Given the description of an element on the screen output the (x, y) to click on. 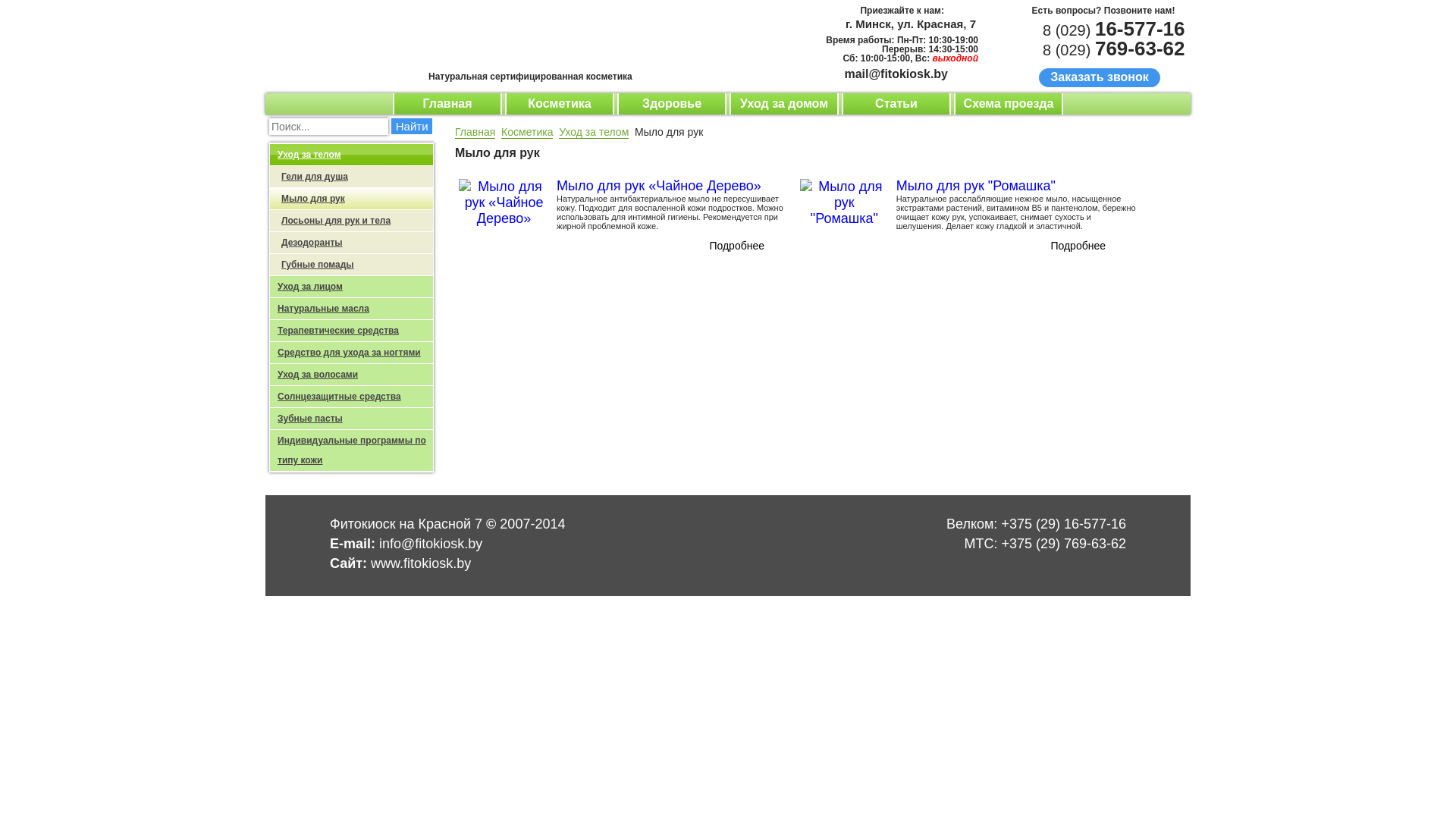
www.fitokiosk.by Element type: text (420, 563)
info@fitokiosk.by Element type: text (430, 543)
